Given the description of an element on the screen output the (x, y) to click on. 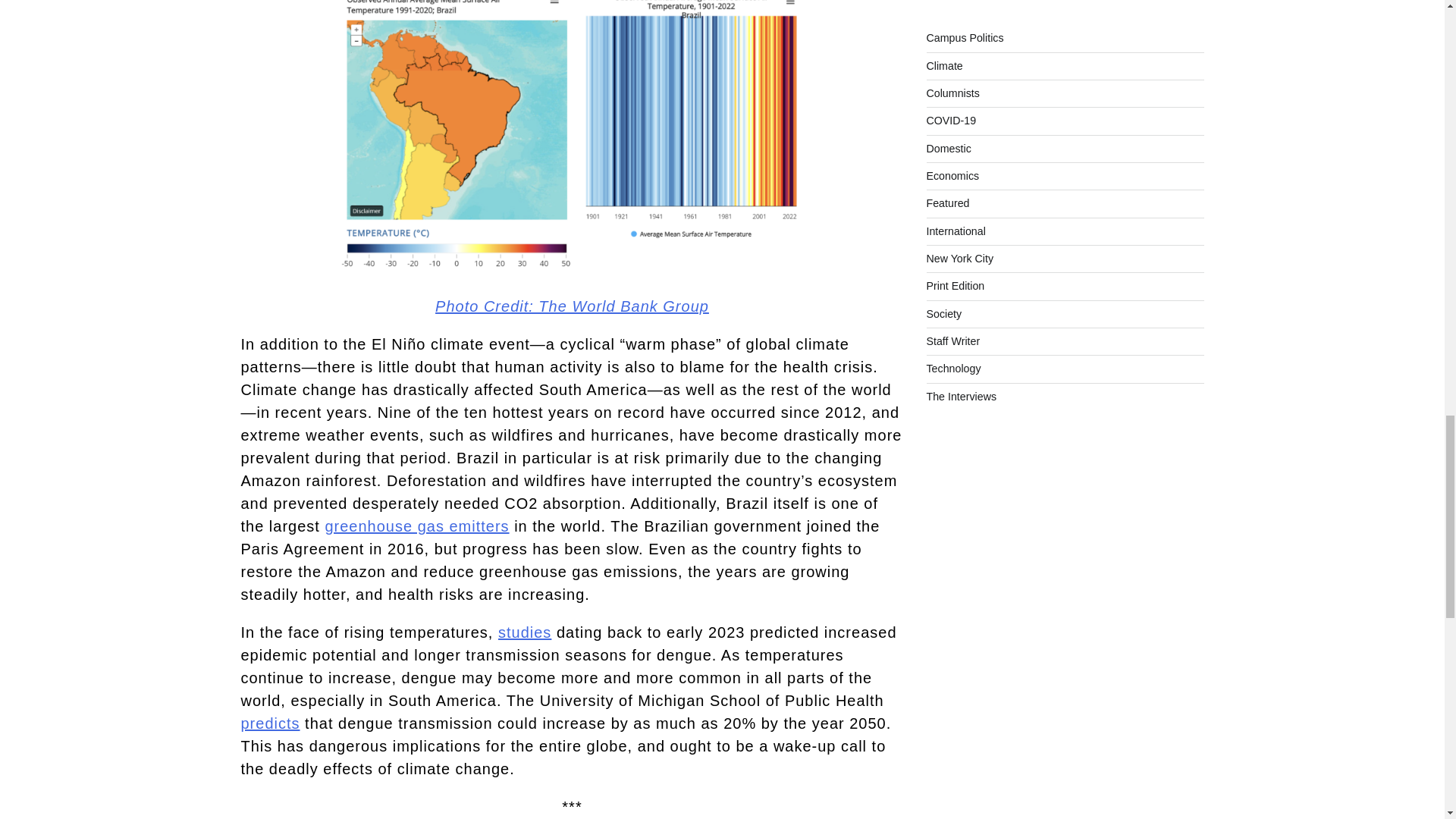
Photo Credit: The World Bank Group (572, 306)
studies (524, 632)
predicts (270, 723)
greenhouse gas emitters (416, 525)
